Given the description of an element on the screen output the (x, y) to click on. 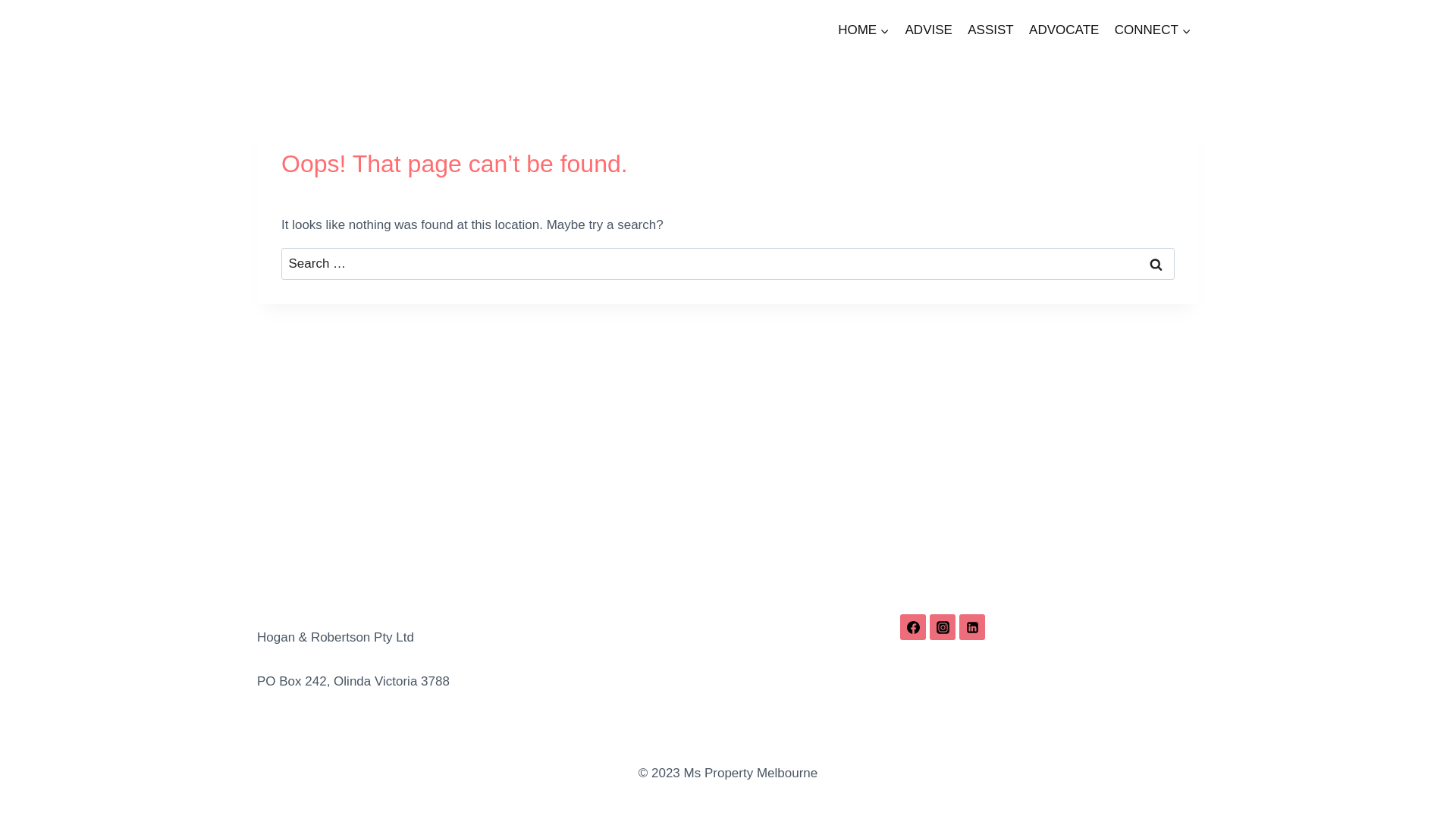
ASSIST Element type: text (990, 30)
CONNECT Element type: text (1152, 30)
ADVISE Element type: text (928, 30)
ADVOCATE Element type: text (1064, 30)
Search Element type: text (1155, 263)
HOME Element type: text (863, 30)
